Given the description of an element on the screen output the (x, y) to click on. 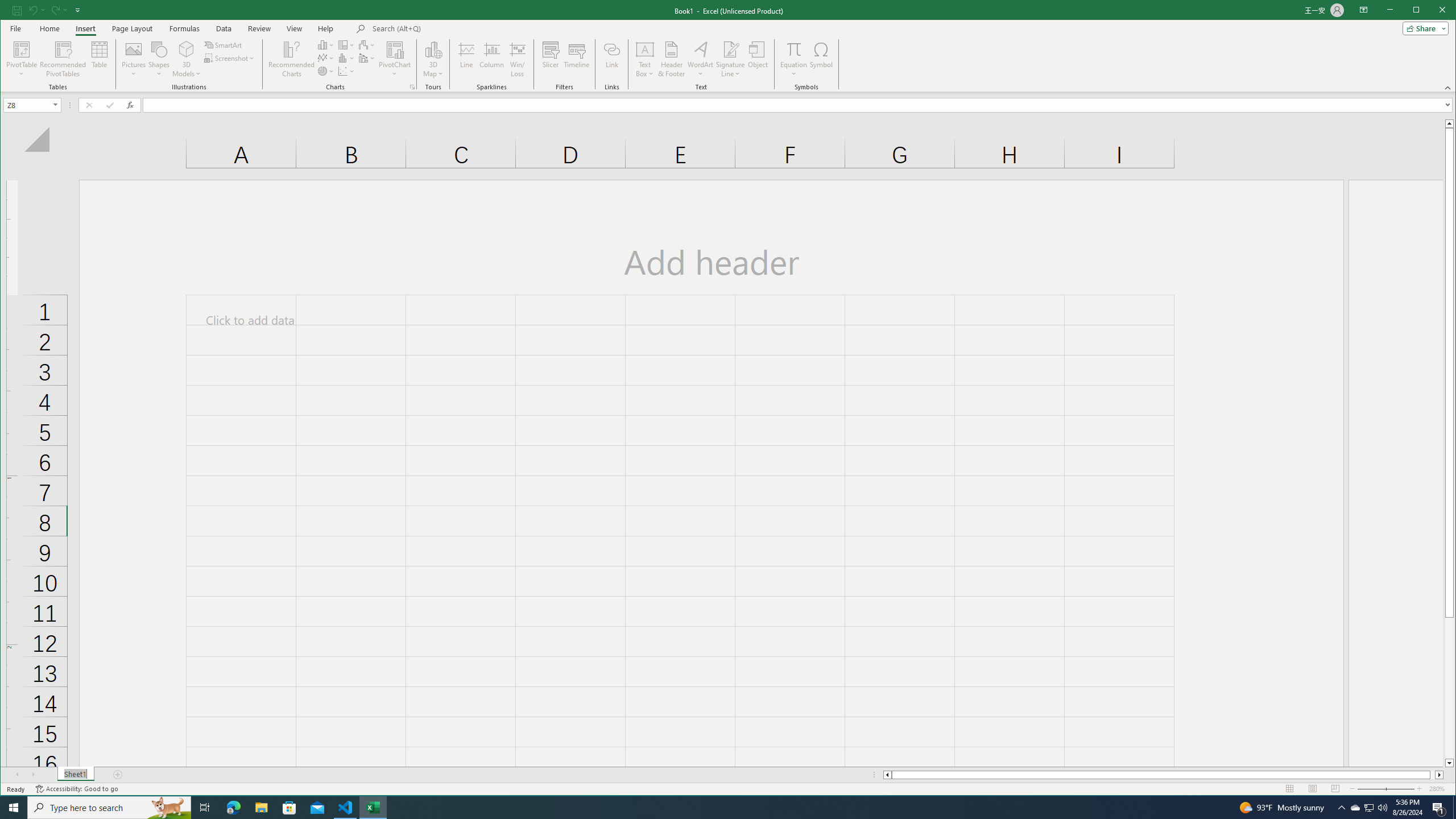
Insert Statistic Chart (1355, 807)
Insert Pie or Doughnut Chart (346, 57)
PivotTable (325, 70)
Search highlights icon opens search home window (22, 59)
Start (167, 807)
